Given the description of an element on the screen output the (x, y) to click on. 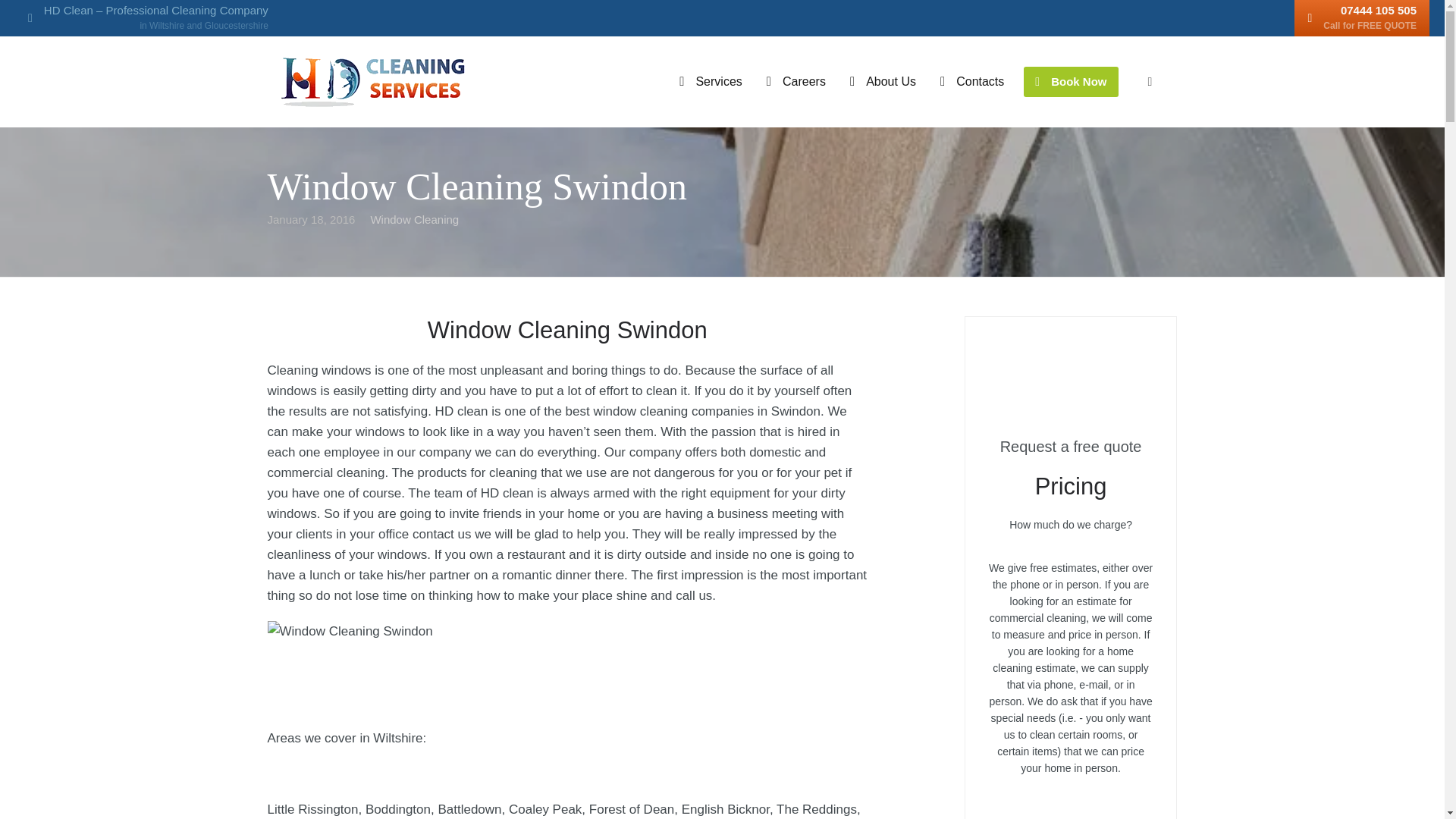
Book Now (1070, 81)
Careers (796, 81)
Services (710, 81)
About Us (883, 81)
Search (13, 14)
Window Cleaning (1361, 18)
Contacts (413, 219)
HD Clean (972, 81)
